Given the description of an element on the screen output the (x, y) to click on. 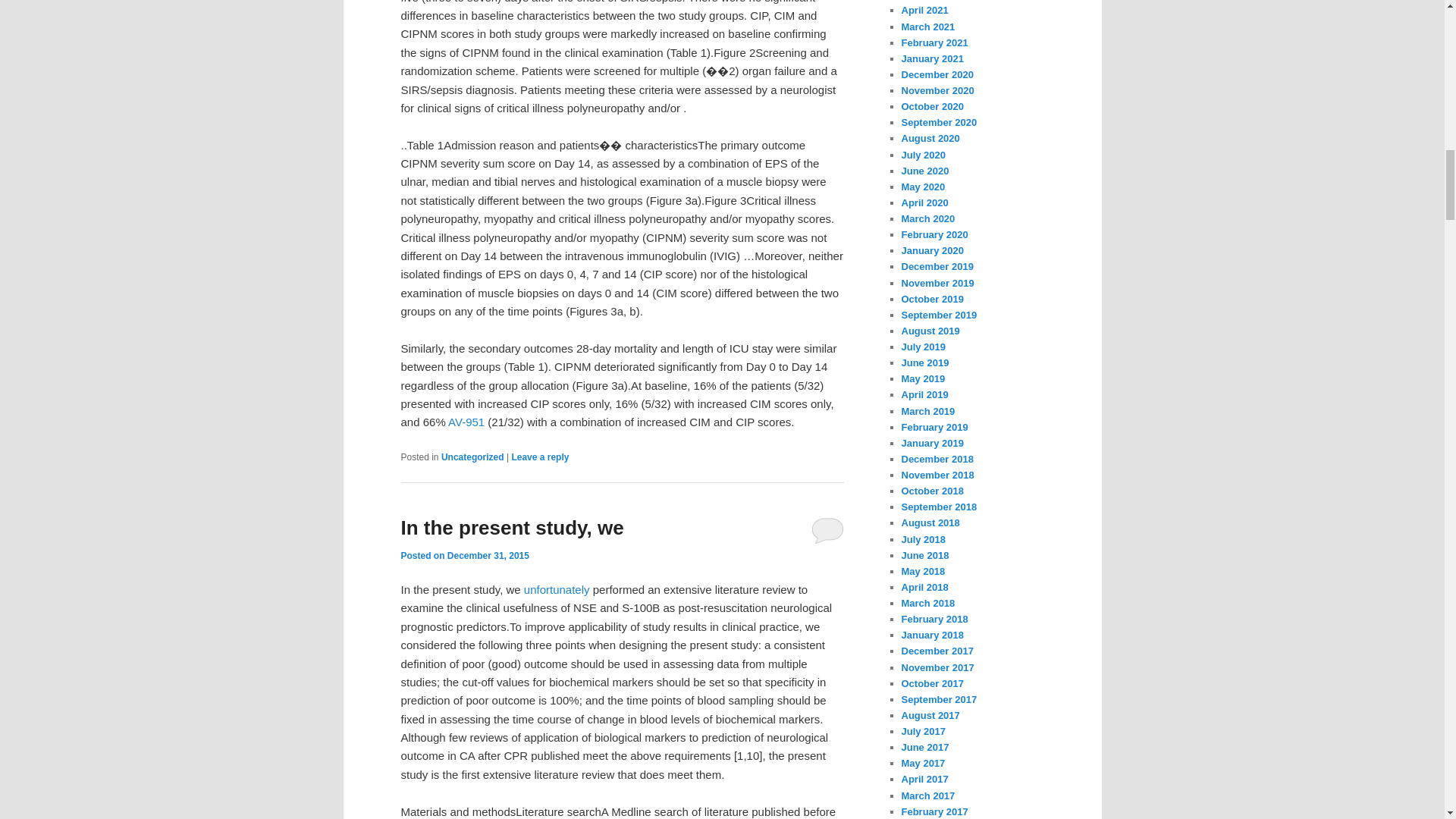
Posted on (423, 555)
Comment on For data management and  (540, 457)
View all posts in Uncategorized (472, 457)
Uncategorized (472, 457)
December 31, 2015 (487, 555)
unfortunately (556, 589)
Permalink to In the present study, we  (511, 527)
Leave a reply (540, 457)
In the present study, we (511, 527)
AV-951 (466, 421)
